Given the description of an element on the screen output the (x, y) to click on. 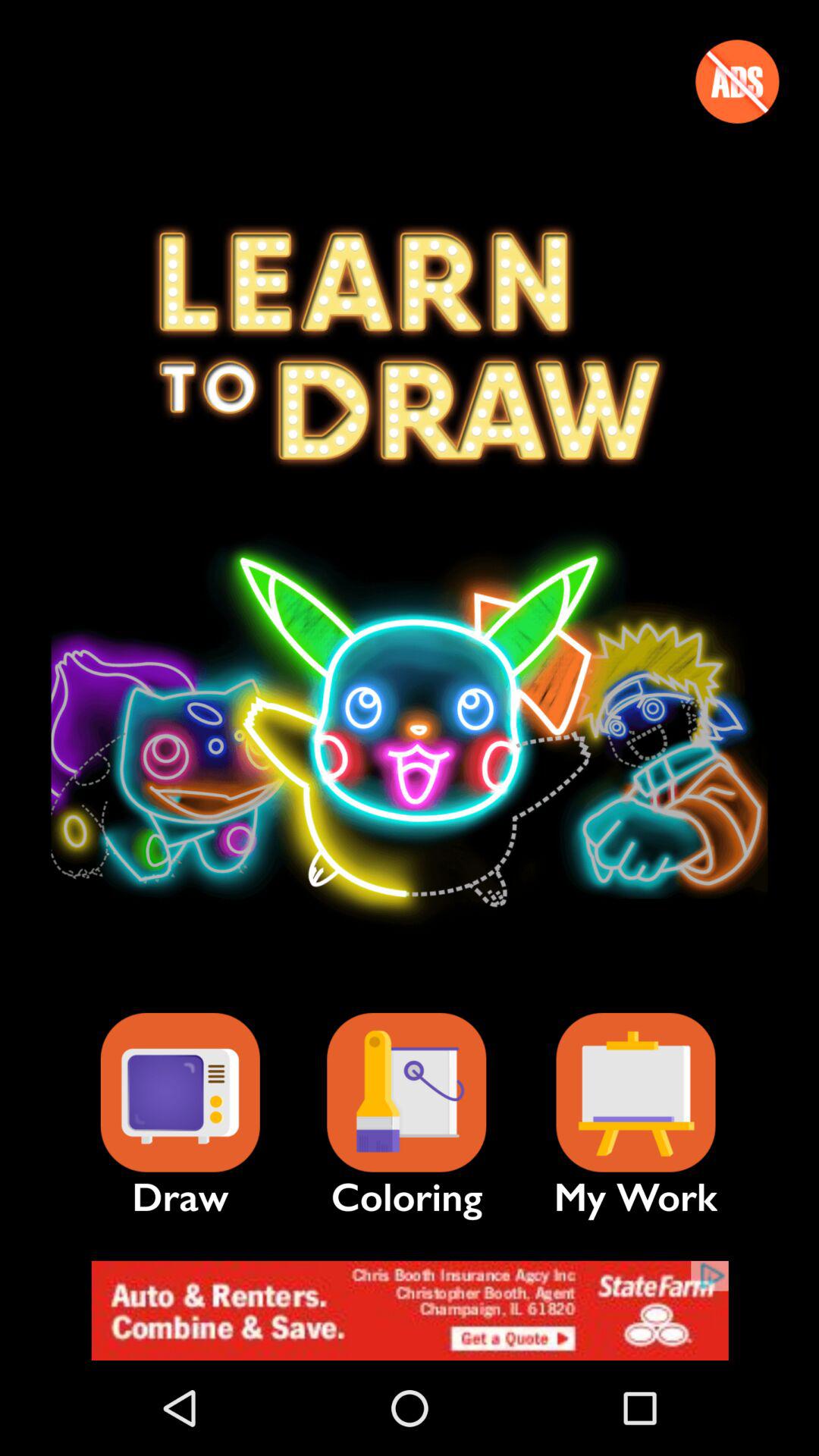
click draw button (179, 1092)
